Given the description of an element on the screen output the (x, y) to click on. 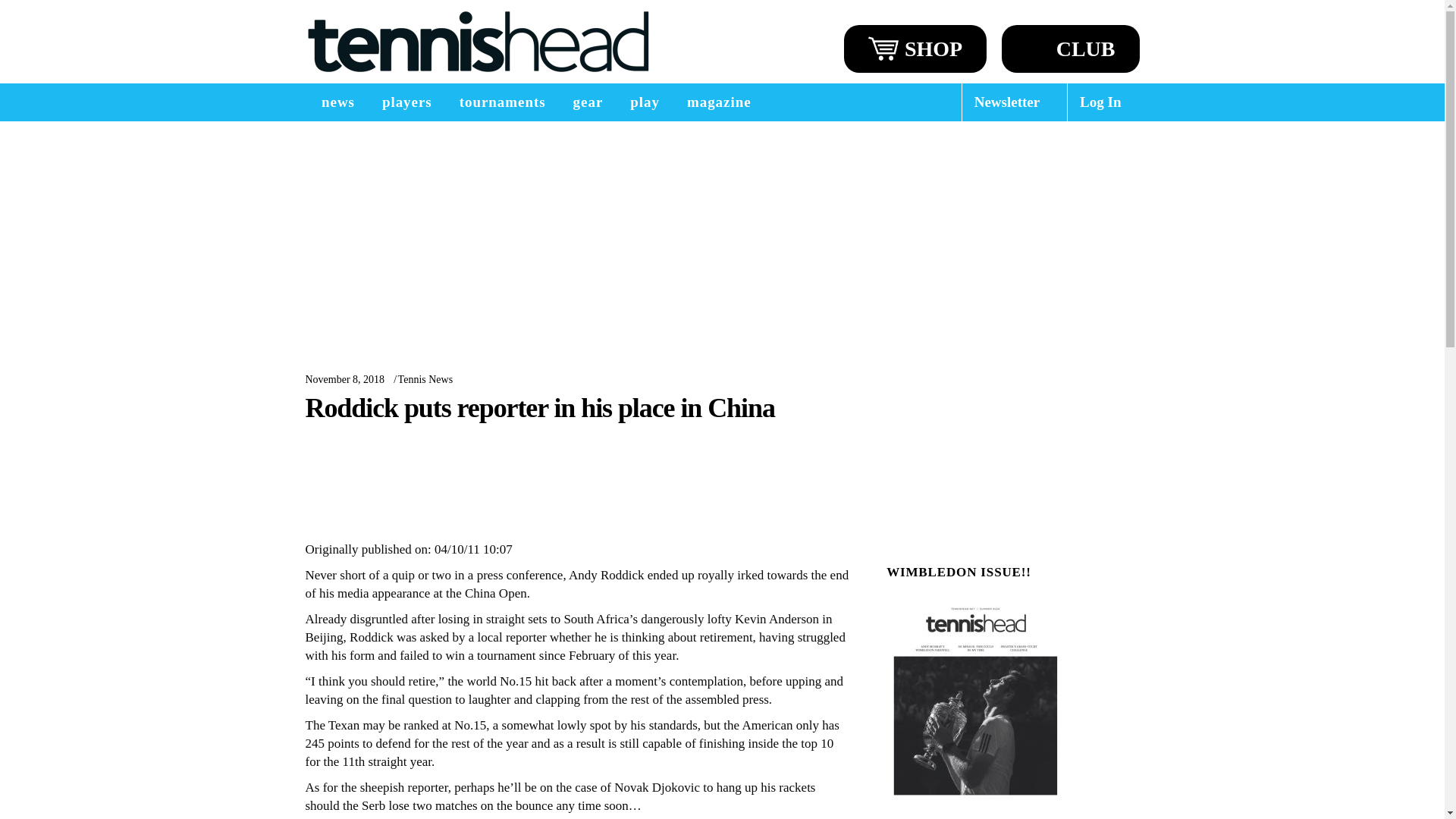
news (337, 102)
gear (588, 102)
SHOP (915, 48)
CLUB (1070, 48)
players (406, 102)
tournaments (502, 102)
play (643, 102)
